Given the description of an element on the screen output the (x, y) to click on. 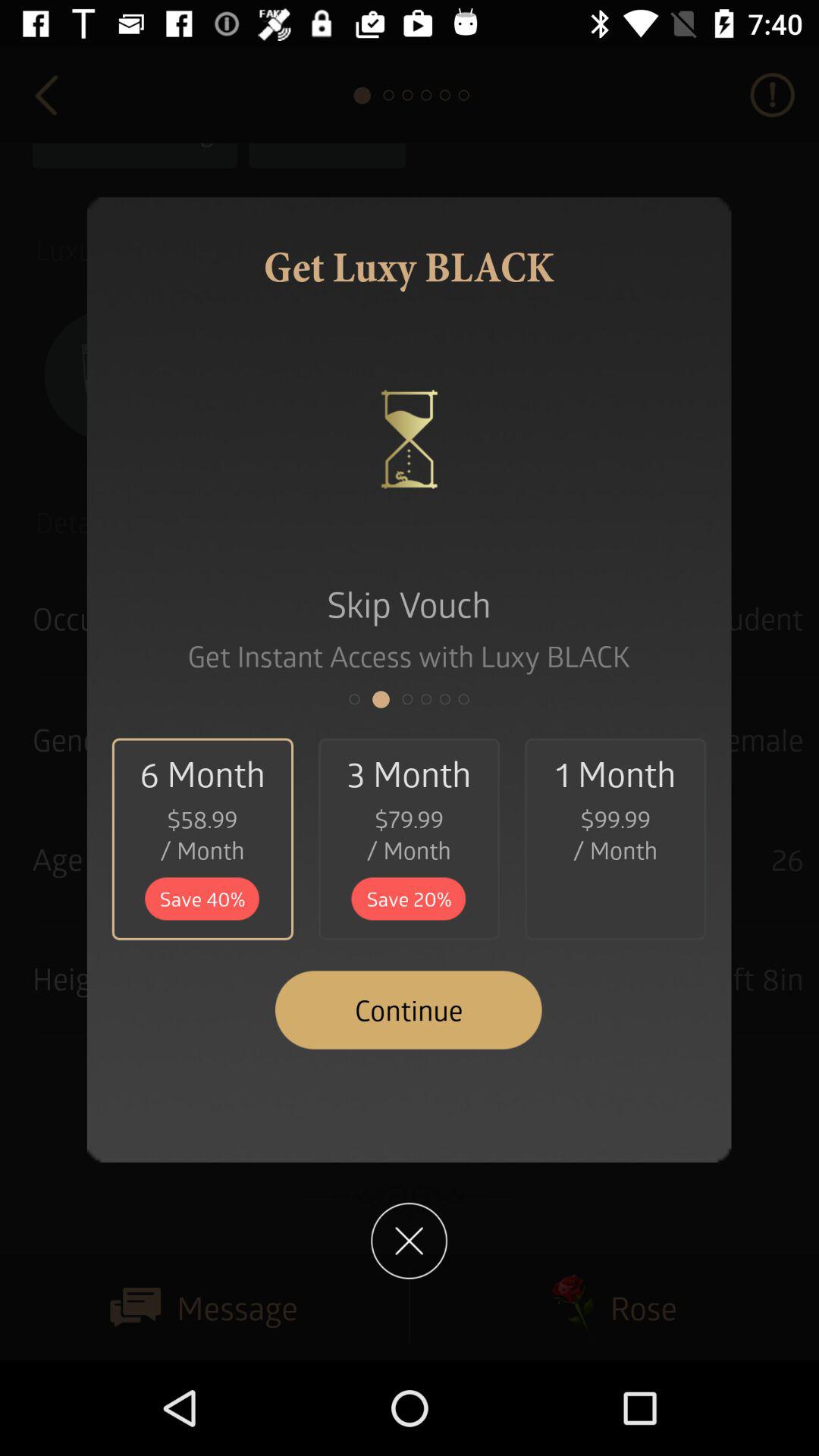
coles page (408, 1240)
